Given the description of an element on the screen output the (x, y) to click on. 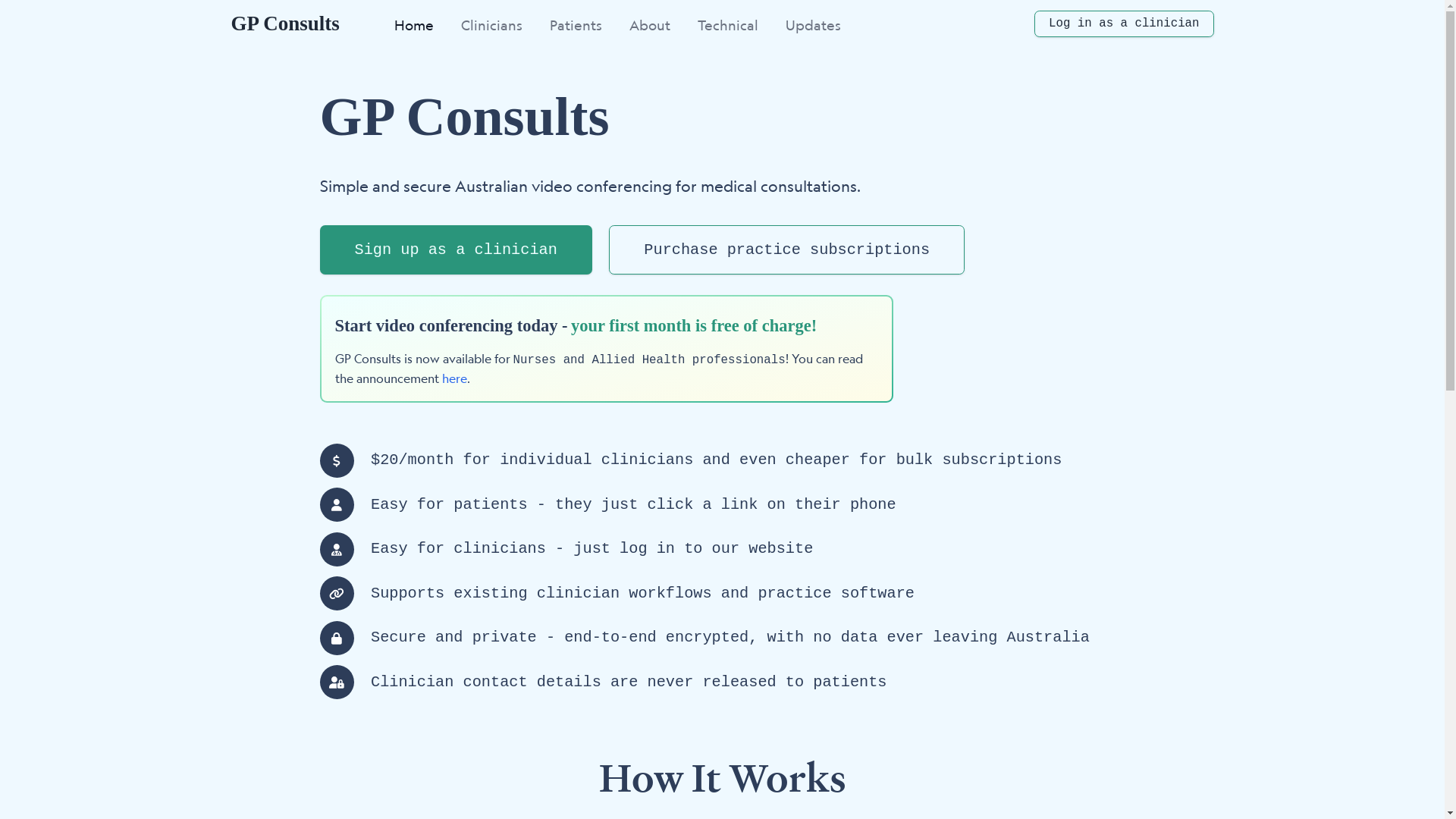
Purchase practice subscriptions Element type: text (786, 249)
Technical Element type: text (727, 25)
here Element type: text (453, 377)
About Element type: text (649, 25)
Clinicians Element type: text (491, 25)
Updates Element type: text (812, 25)
GP Consults Element type: text (284, 23)
Log in as a clinician Element type: text (1123, 23)
Patients Element type: text (575, 25)
Sign up as a clinician Element type: text (456, 249)
Home Element type: text (413, 25)
